Given the description of an element on the screen output the (x, y) to click on. 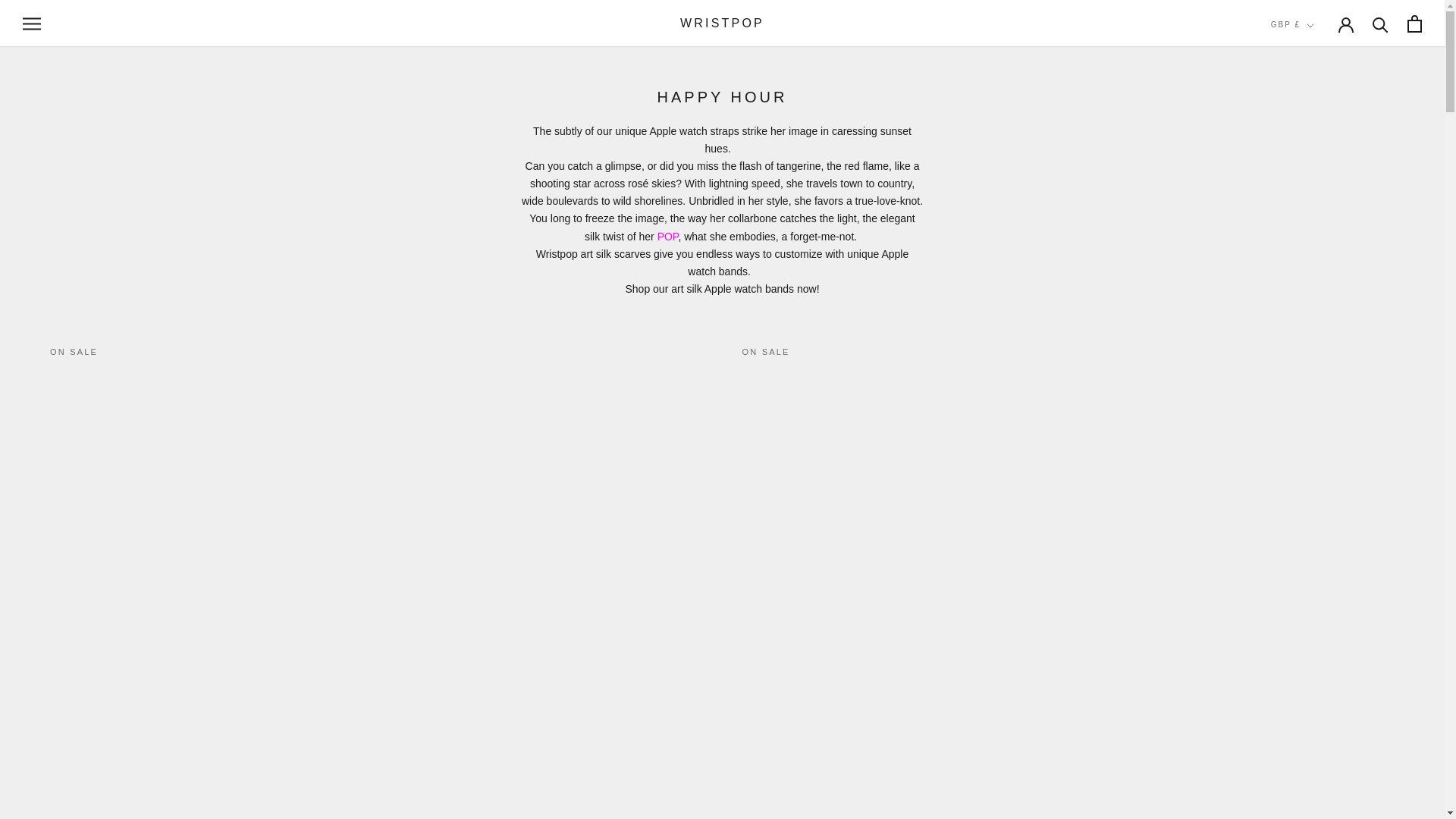
BAM (1319, 218)
BND (1319, 317)
ANG (1319, 137)
BSD (1319, 358)
BDT (1319, 258)
BWP (1319, 378)
BIF (1319, 298)
ALL (1319, 96)
AFN (1319, 76)
AED (1319, 56)
